Given the description of an element on the screen output the (x, y) to click on. 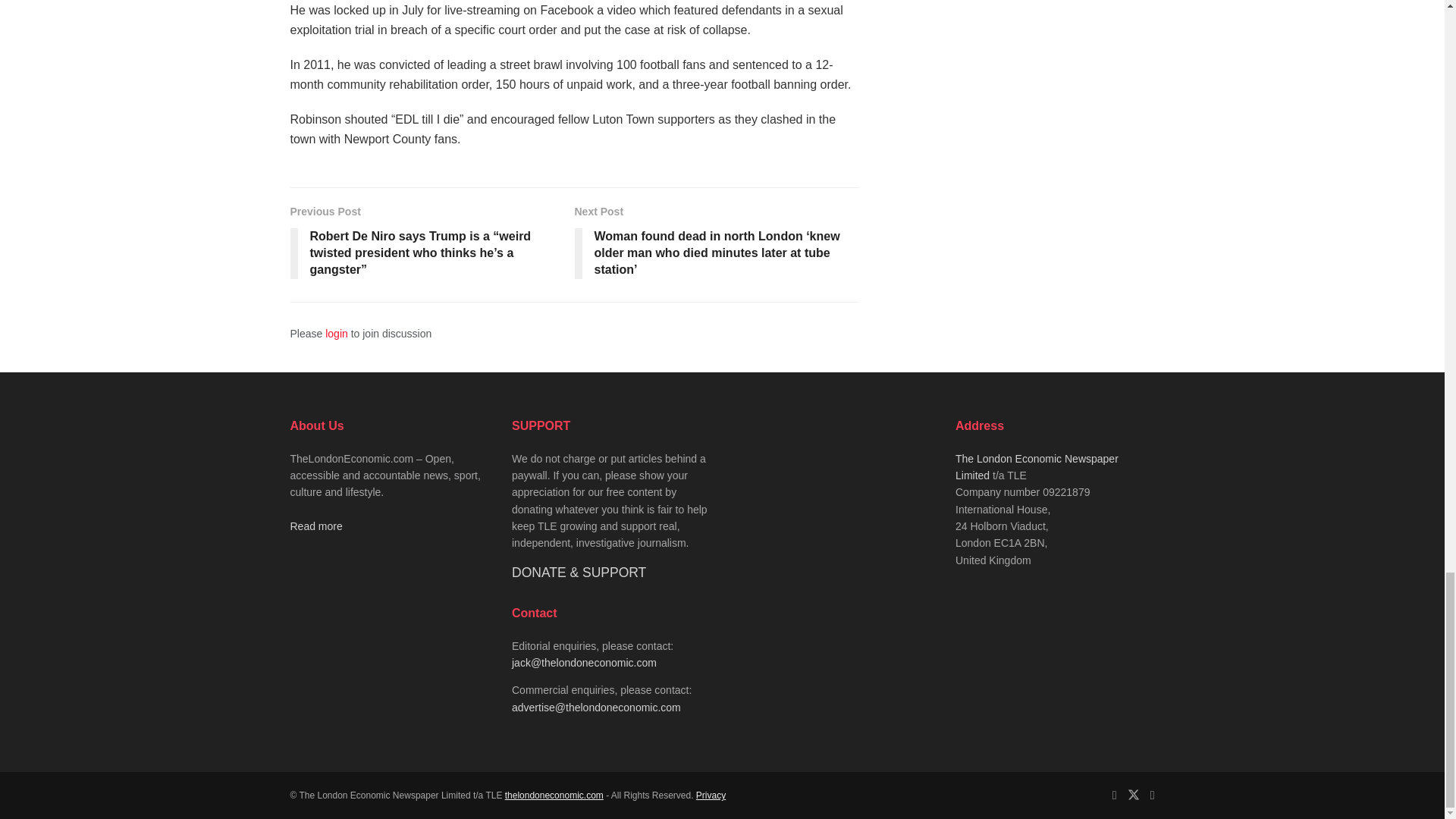
The London Economic (554, 795)
Privacy (710, 795)
